Given the description of an element on the screen output the (x, y) to click on. 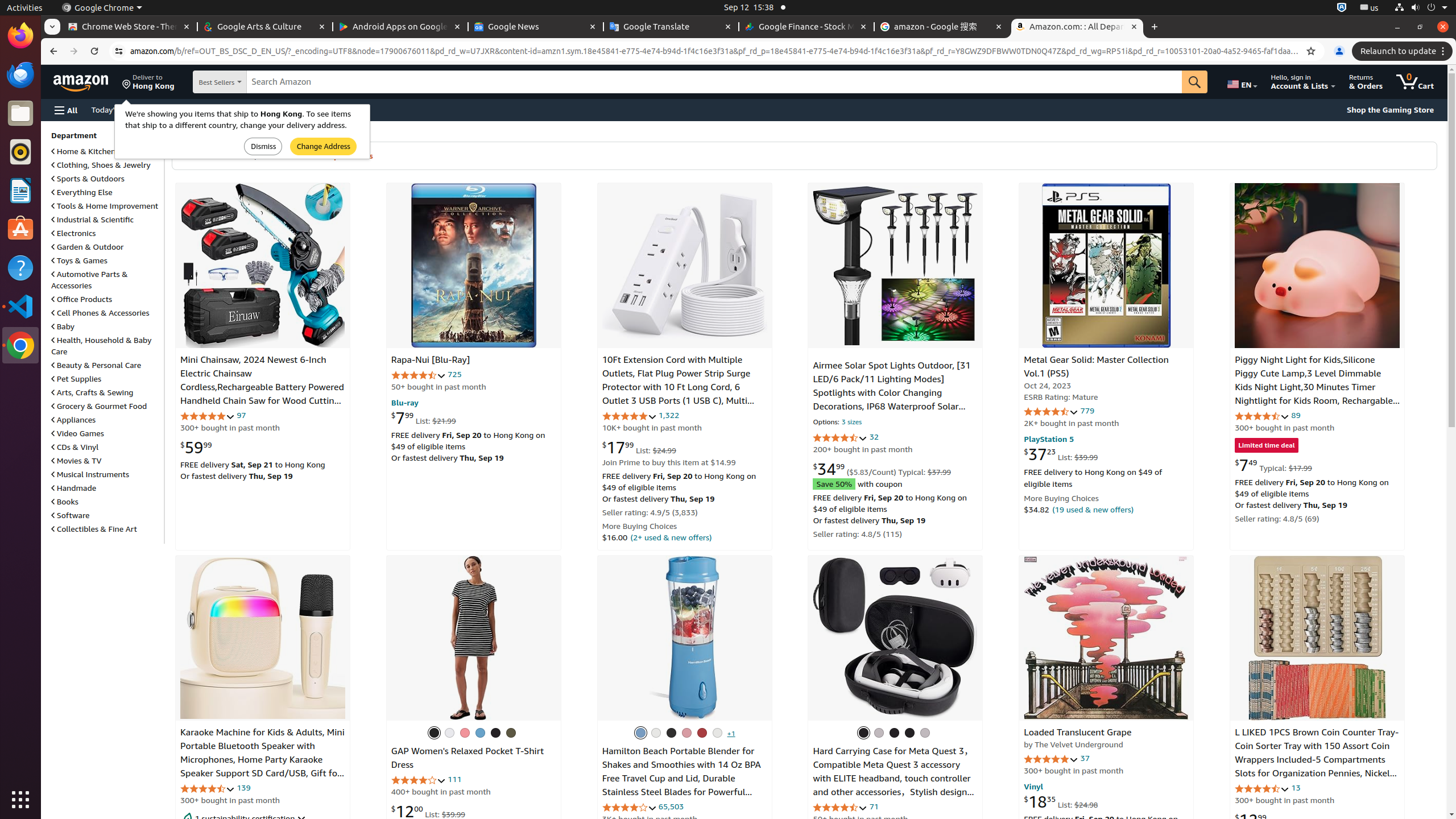
Open Menu Element type: push-button (66, 109)
GAP Women's Relaxed Pocket T-Shirt Dress Element type: link (473, 637)
Office Products Element type: link (81, 298)
System Element type: menu (1420, 7)
Choose a language for shopping. Element type: link (1241, 81)
